Given the description of an element on the screen output the (x, y) to click on. 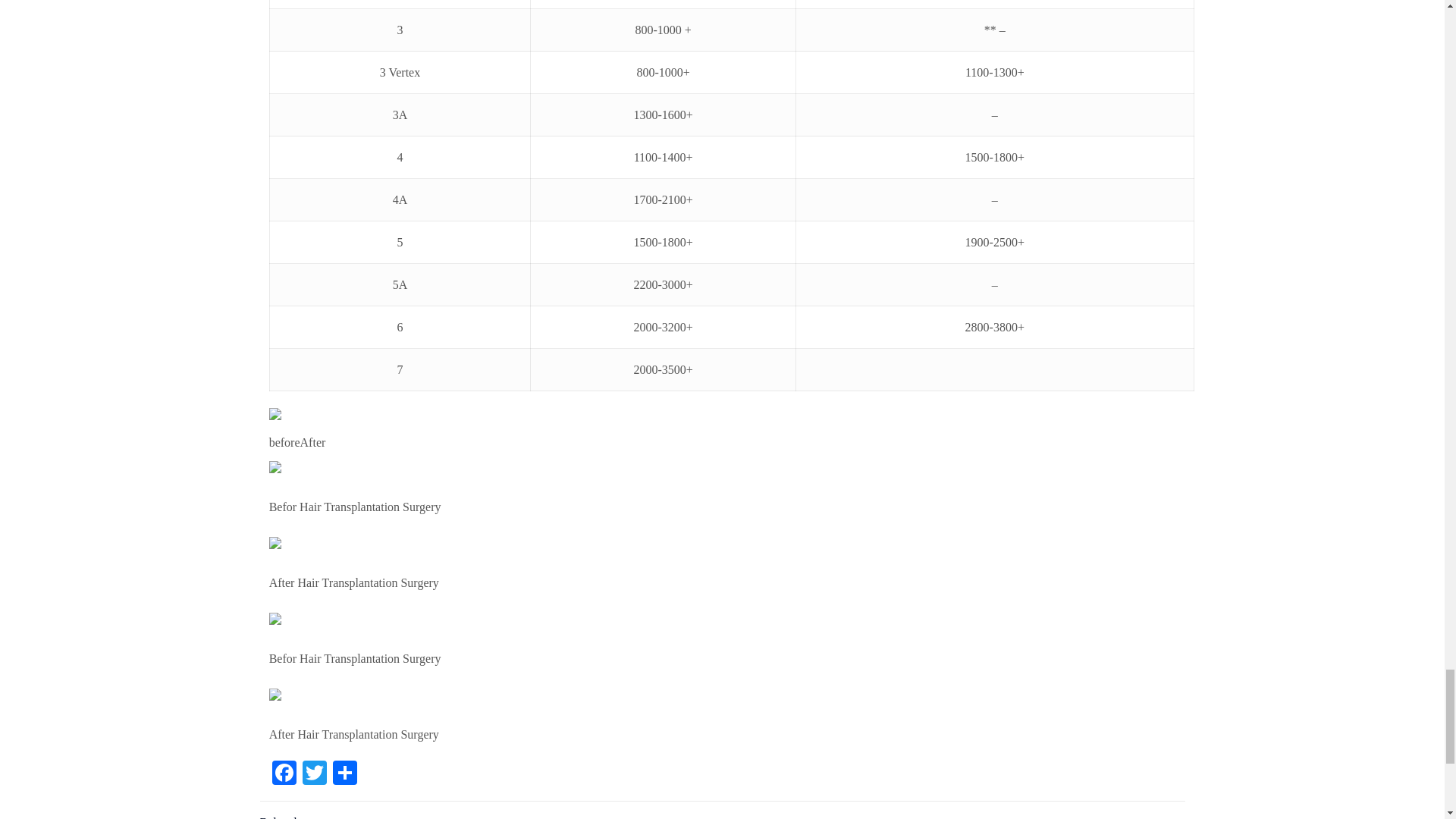
Twitter (314, 774)
Facebook (284, 774)
